Given the description of an element on the screen output the (x, y) to click on. 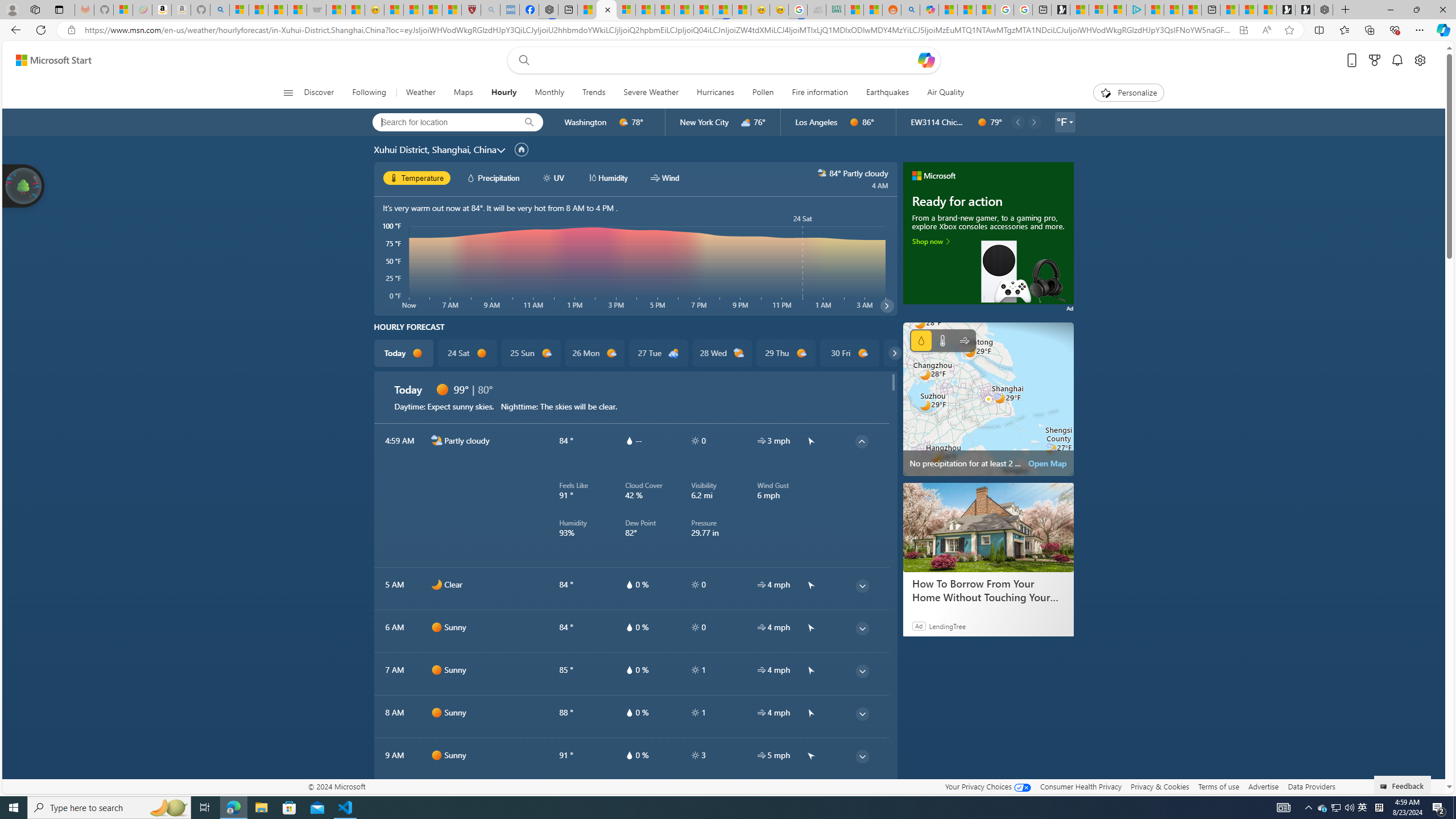
Maps (462, 92)
Class: miniMapRadarSVGView-DS-EntryPoint1-1 (988, 398)
Consumer Health Privacy (1080, 786)
d0000 (436, 797)
locationName/setHomeLocation (520, 149)
Hurricanes (715, 92)
hourlyChart/uvWhite (546, 177)
common/arrow (810, 797)
d1000 (862, 353)
